Given the description of an element on the screen output the (x, y) to click on. 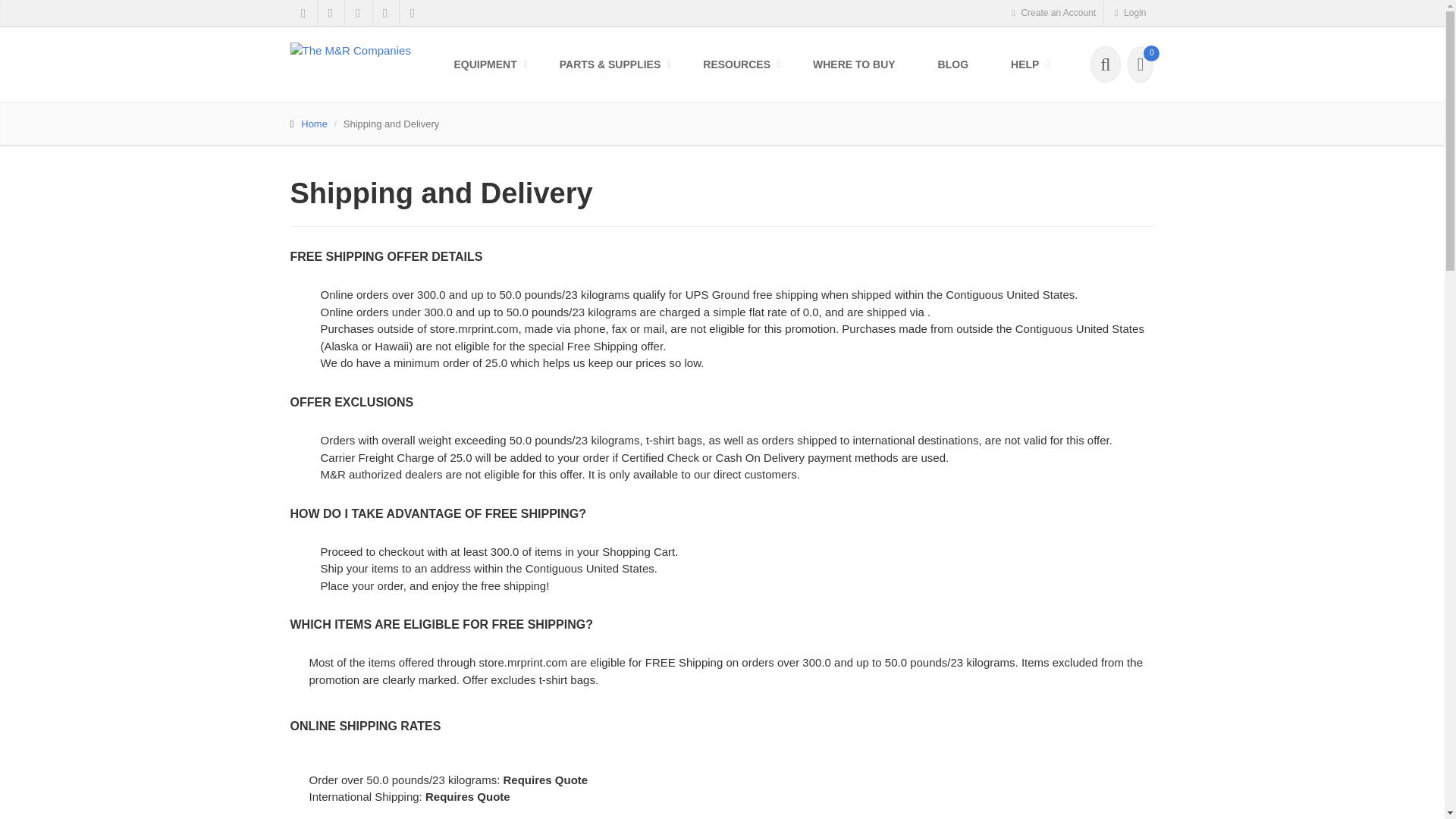
Login (1128, 13)
EQUIPMENT (485, 63)
Create an Account (1052, 13)
